Given the description of an element on the screen output the (x, y) to click on. 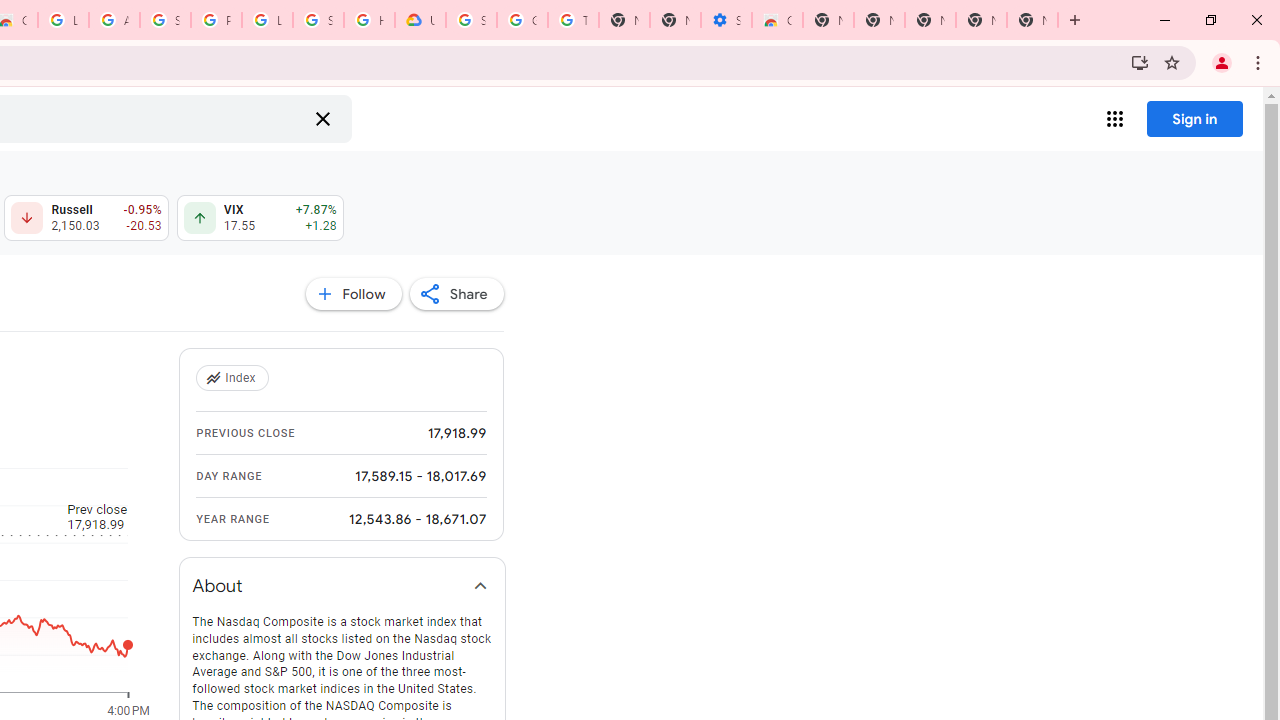
Settings - Accessibility (726, 20)
Sign in - Google Accounts (164, 20)
